Given the description of an element on the screen output the (x, y) to click on. 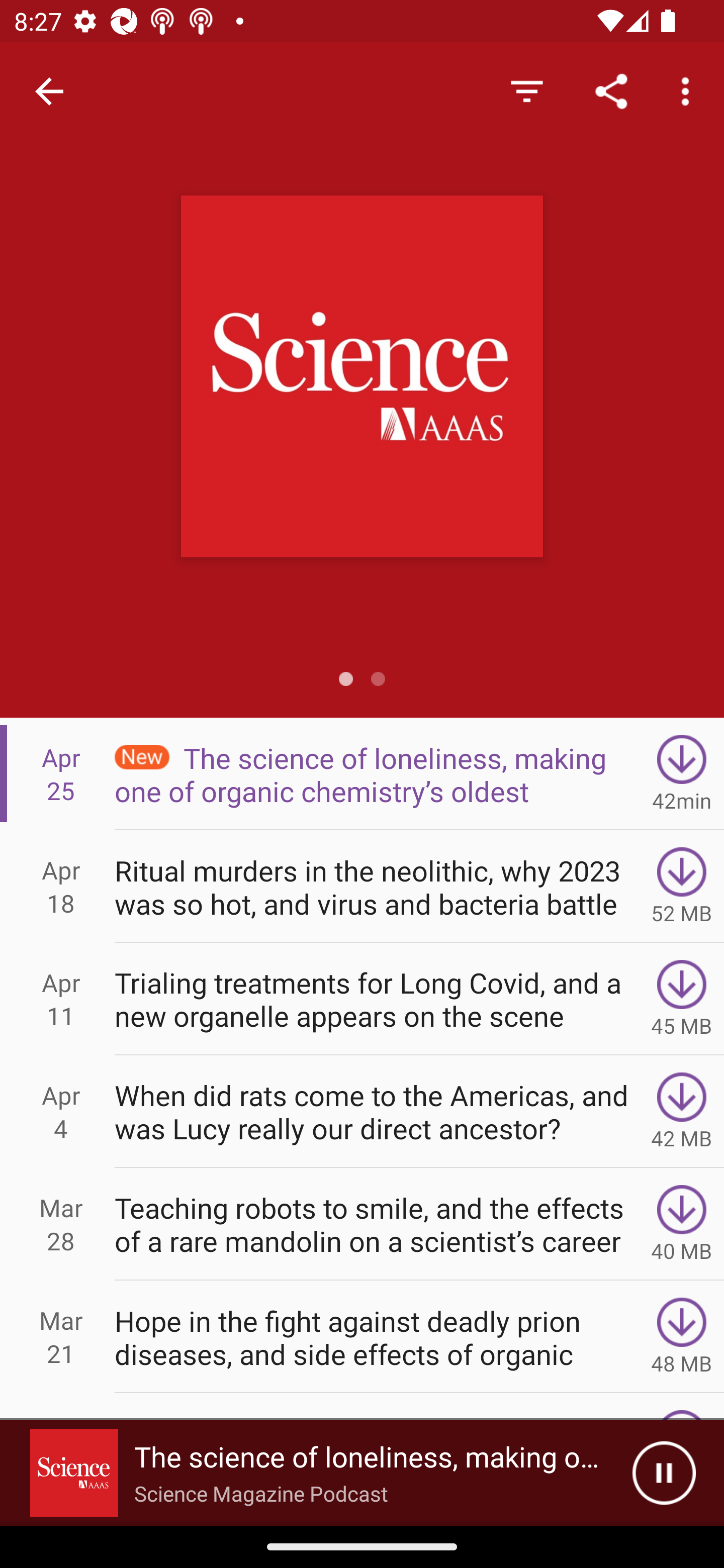
Navigate up (49, 91)
Hide Episodes (526, 90)
Share Link (611, 90)
More options (688, 90)
Download 42min (681, 773)
Download 52 MB (681, 885)
Download 45 MB (681, 998)
Download 42 MB (681, 1111)
Download 40 MB (681, 1224)
Download 48 MB (681, 1336)
Pause (663, 1472)
